Given the description of an element on the screen output the (x, y) to click on. 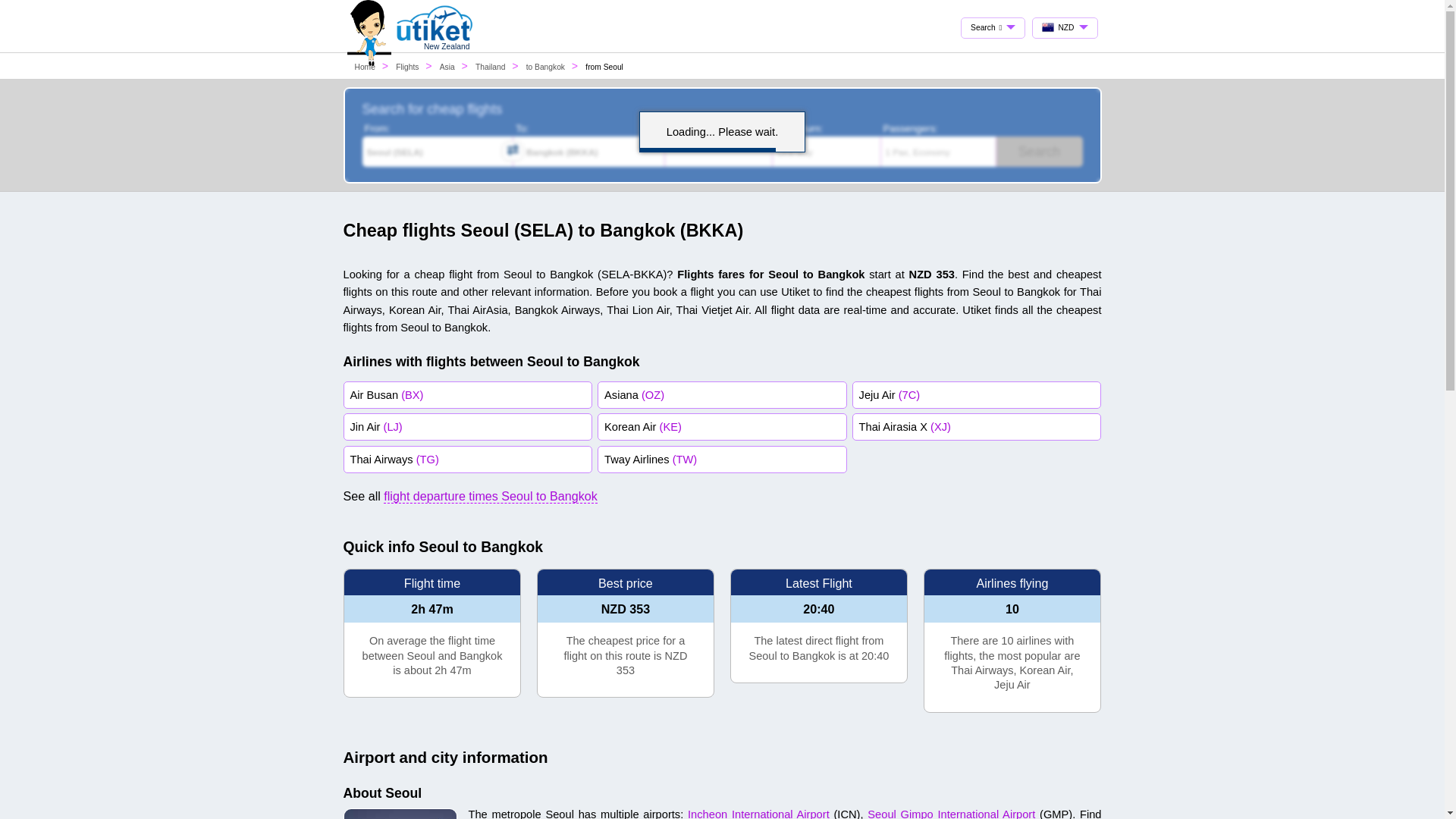
Incheon International Airport (758, 813)
Asia (446, 67)
Home (365, 67)
flight departure times Seoul to Bangkok (490, 495)
Thailand (490, 67)
1 Pax, Economy (937, 151)
Seoul Gimpo International Airport (951, 813)
One-way (826, 151)
Search (1039, 151)
return (780, 126)
New Zealand (435, 46)
Flights (408, 67)
to Bangkok (544, 67)
